Given the description of an element on the screen output the (x, y) to click on. 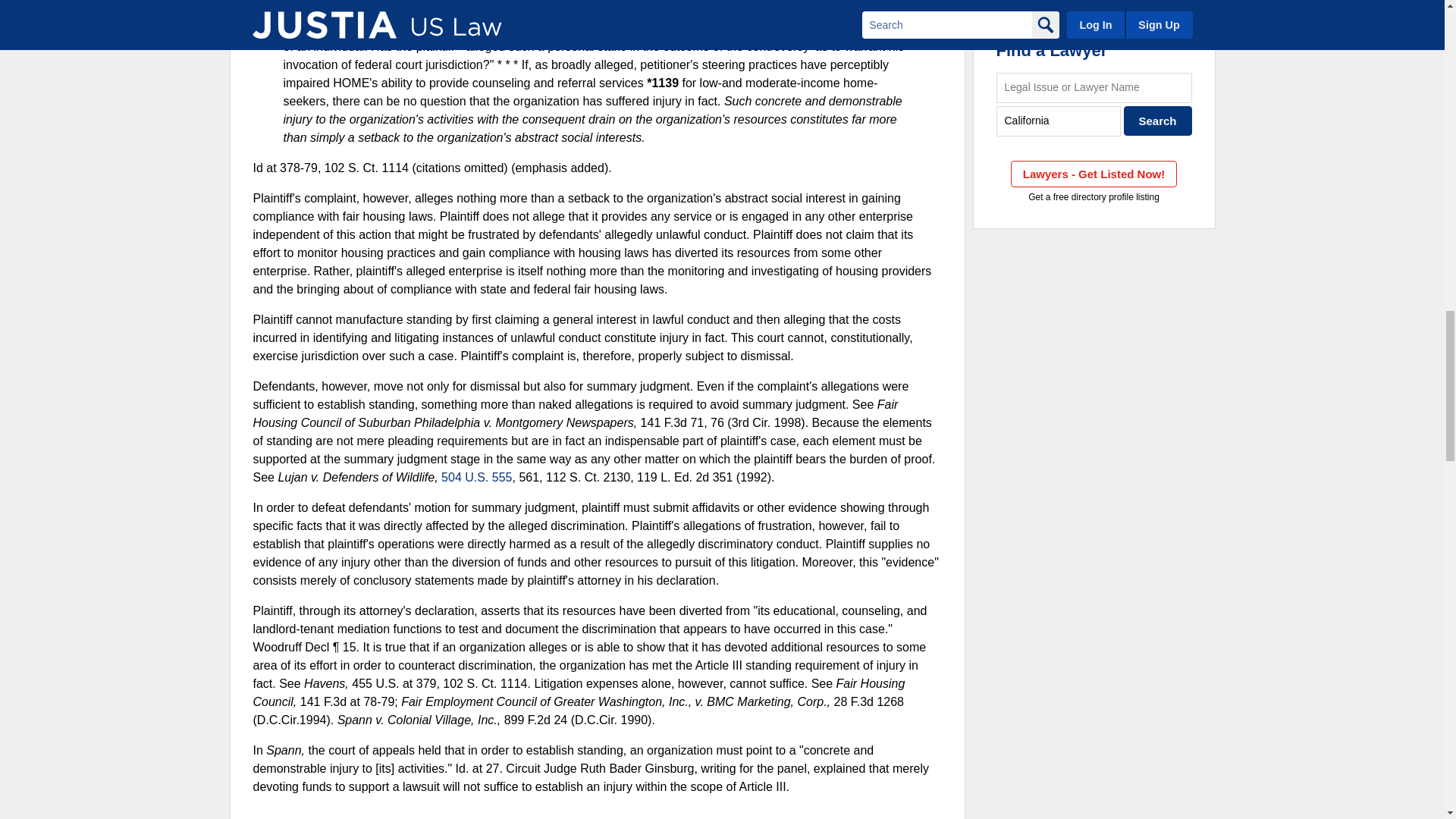
504 U.S. 555 (476, 477)
Search (1158, 120)
Legal Issue or Lawyer Name (1093, 87)
City, State (1058, 120)
Search (1158, 120)
California (1058, 120)
